Given the description of an element on the screen output the (x, y) to click on. 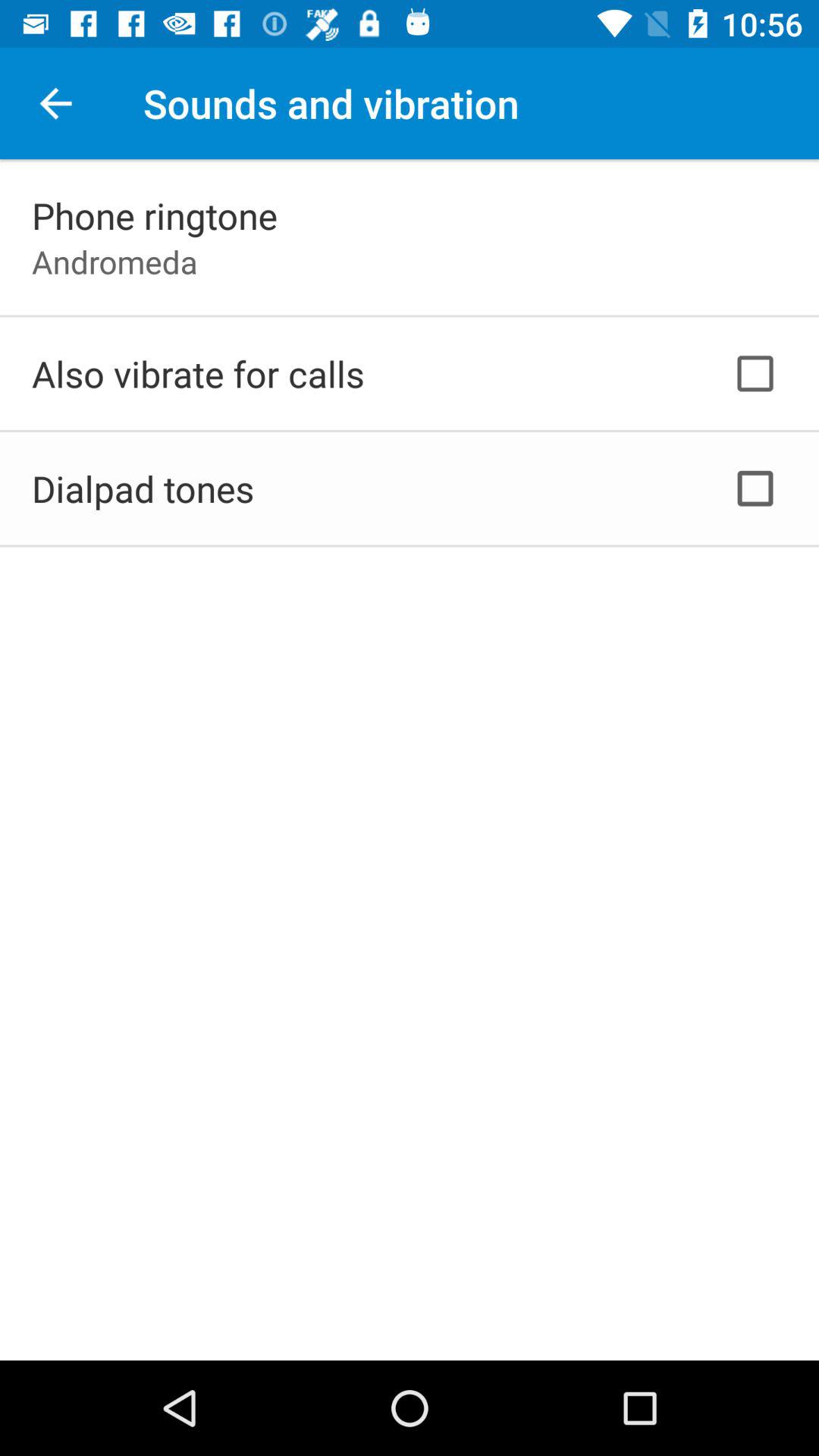
launch item above andromeda item (154, 215)
